Given the description of an element on the screen output the (x, y) to click on. 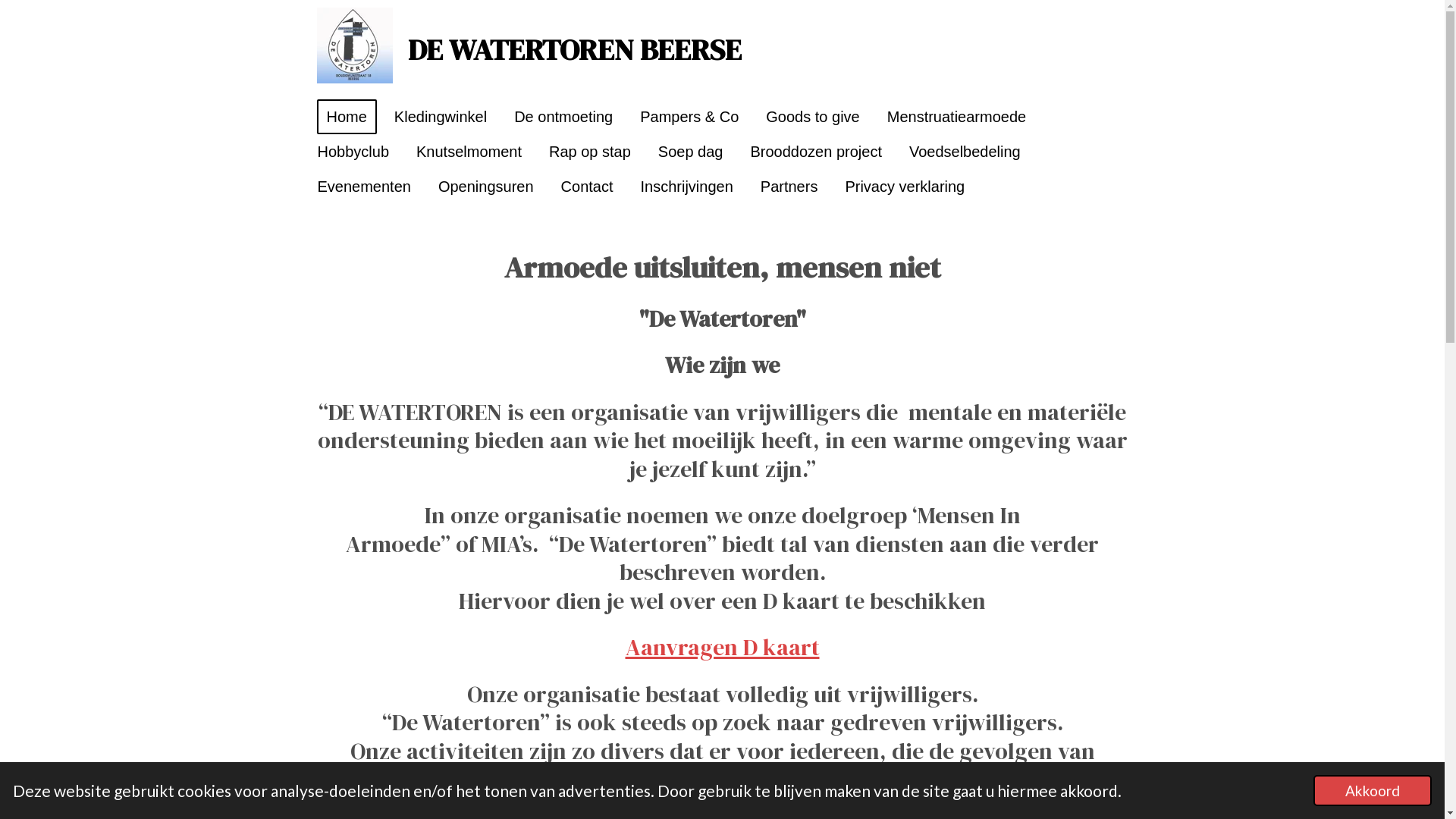
Home Element type: text (346, 116)
De Watertoren Beerse Element type: hover (354, 45)
Soep dag Element type: text (690, 151)
Voedselbedeling Element type: text (964, 151)
Inschrijvingen Element type: text (686, 186)
Hobbyclub Element type: text (353, 151)
Menstruatiearmoede Element type: text (956, 116)
Rap op stap Element type: text (589, 151)
Kledingwinkel Element type: text (440, 116)
Goods to give Element type: text (812, 116)
Openingsuren Element type: text (485, 186)
Knutselmoment Element type: text (468, 151)
De ontmoeting Element type: text (563, 116)
Pampers & Co Element type: text (689, 116)
Privacy verklaring Element type: text (904, 186)
Aanvragen D kaart Element type: text (721, 646)
Brooddozen project Element type: text (815, 151)
Evenementen Element type: text (363, 186)
Akkoord Element type: text (1372, 790)
Partners Element type: text (789, 186)
Contact Element type: text (587, 186)
